Given the description of an element on the screen output the (x, y) to click on. 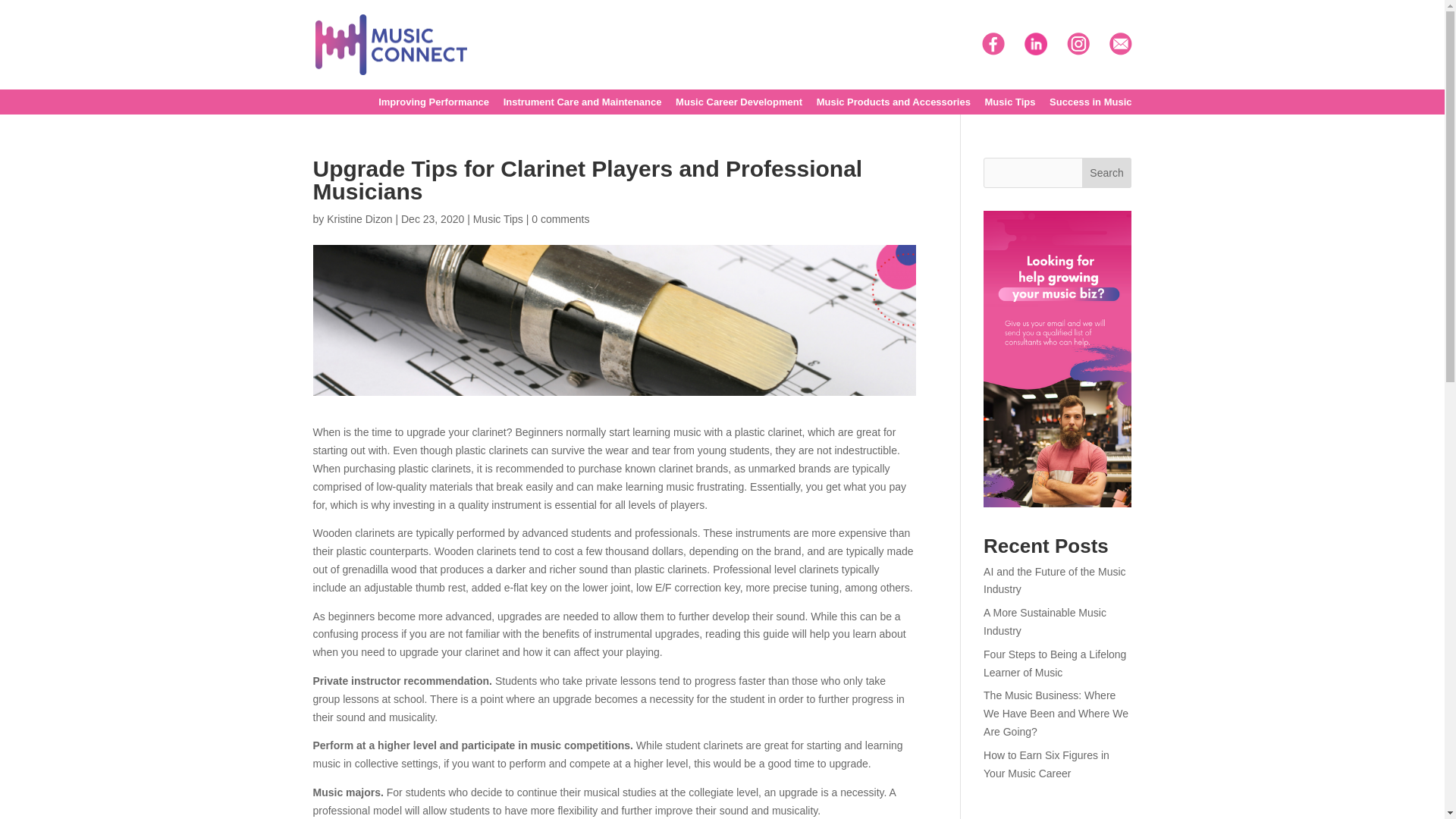
Success in Music (1090, 105)
A More Sustainable Music Industry (1045, 621)
AI and the Future of the Music Industry (1054, 580)
0 comments (560, 218)
Kristine Dizon (358, 218)
Music Tips (1010, 105)
Music Tips (497, 218)
How to Earn Six Figures in Your Music Career (1046, 764)
Posts by Kristine Dizon (358, 218)
Search (1106, 173)
Instrument Care and Maintenance (582, 105)
Music Products and Accessories (893, 105)
Four Steps to Being a Lifelong Learner of Music (1054, 663)
Music Career Development (738, 105)
